Given the description of an element on the screen output the (x, y) to click on. 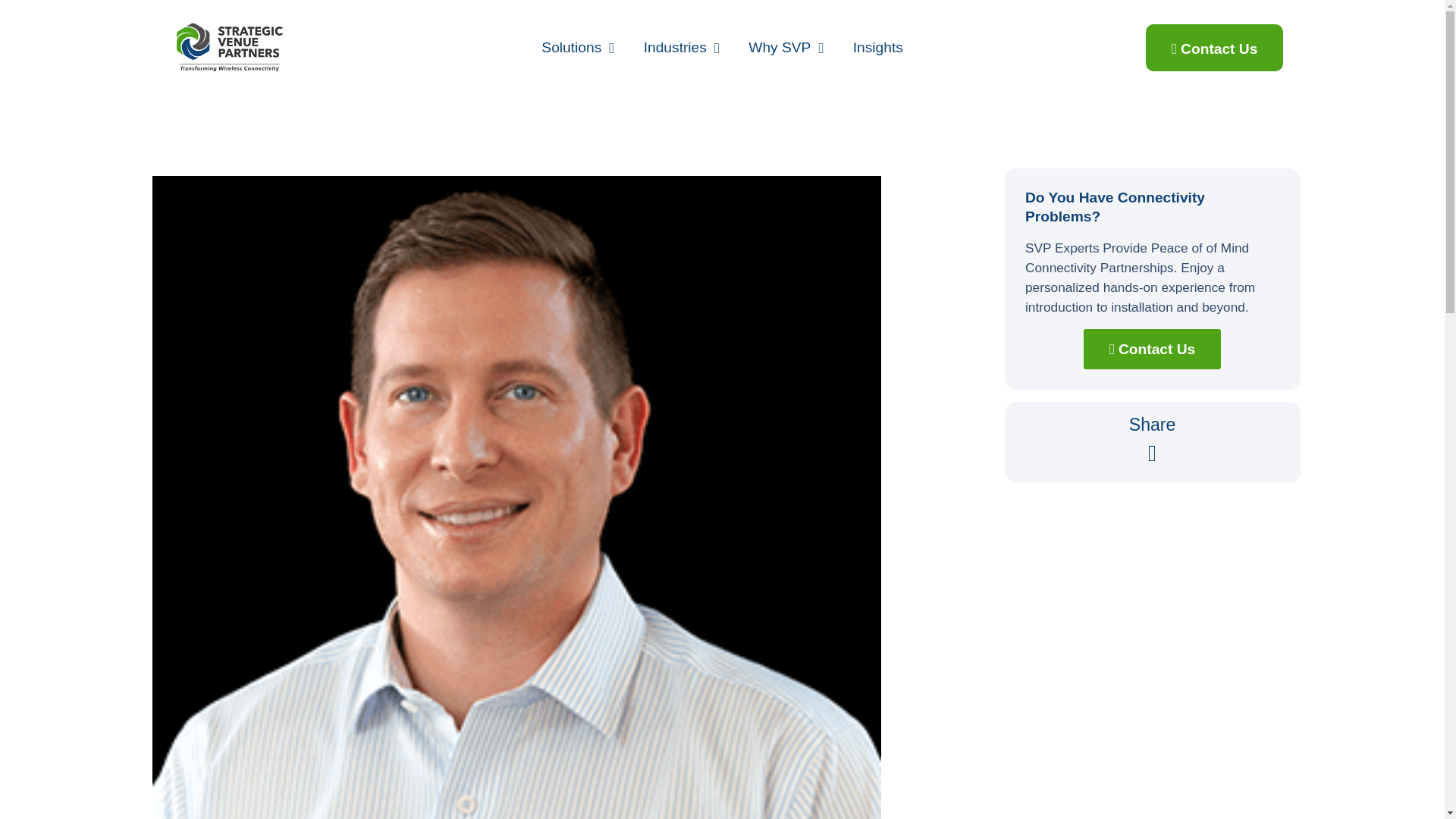
Industries (681, 47)
Contact Us (1213, 47)
Why SVP (785, 47)
Solutions (577, 47)
Insights (878, 47)
